Given the description of an element on the screen output the (x, y) to click on. 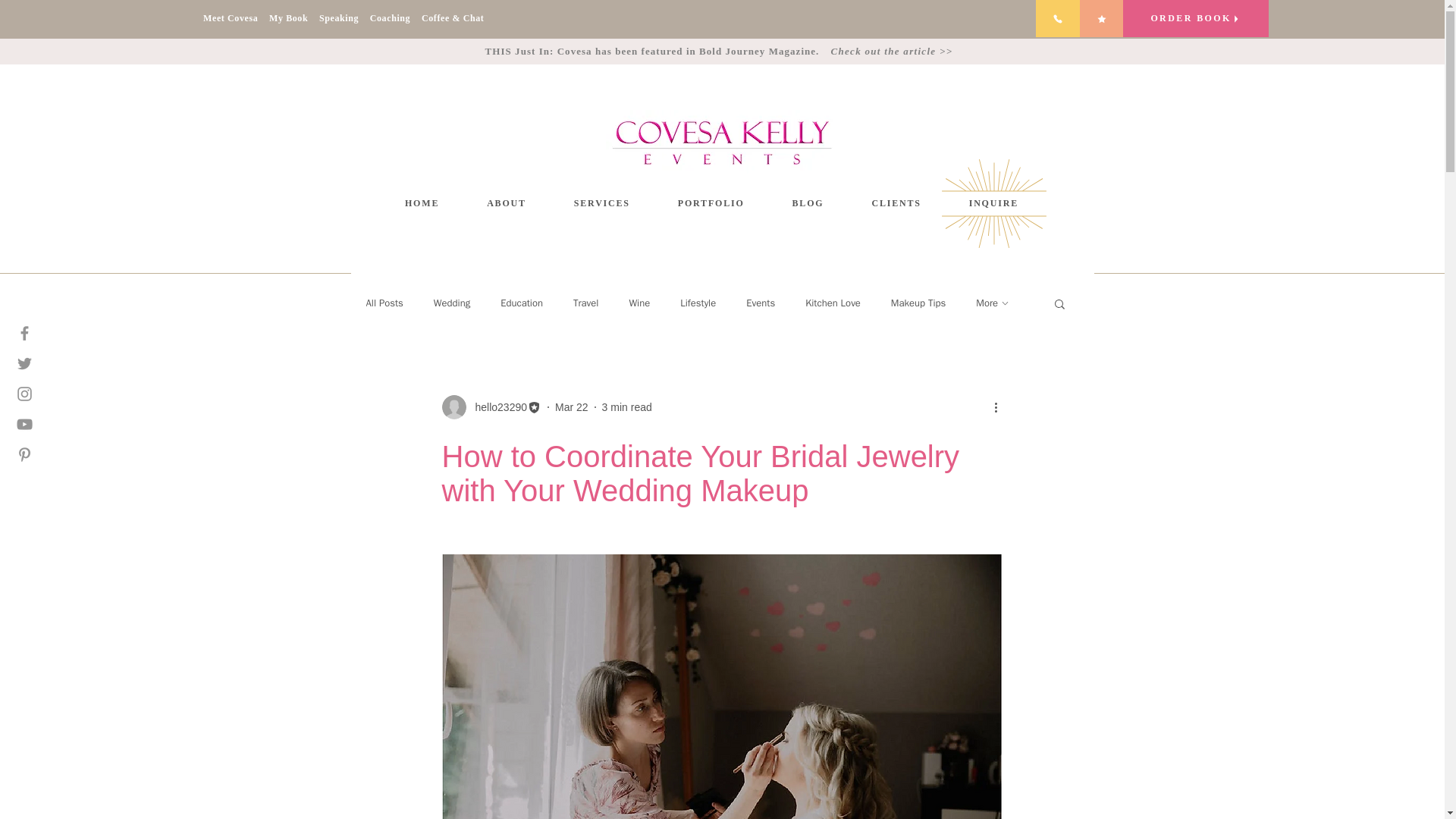
hello23290 (491, 406)
CKE Logo (721, 142)
Wine (638, 303)
Lifestyle (697, 303)
Education (521, 303)
Events (759, 303)
Mar 22 (571, 406)
Speaking (343, 17)
ORDER BOOK (1195, 18)
hello23290 (496, 406)
All Posts (384, 303)
Coaching (395, 17)
Meet Covesa (236, 17)
Kitchen Love (832, 303)
HOME (422, 203)
